Given the description of an element on the screen output the (x, y) to click on. 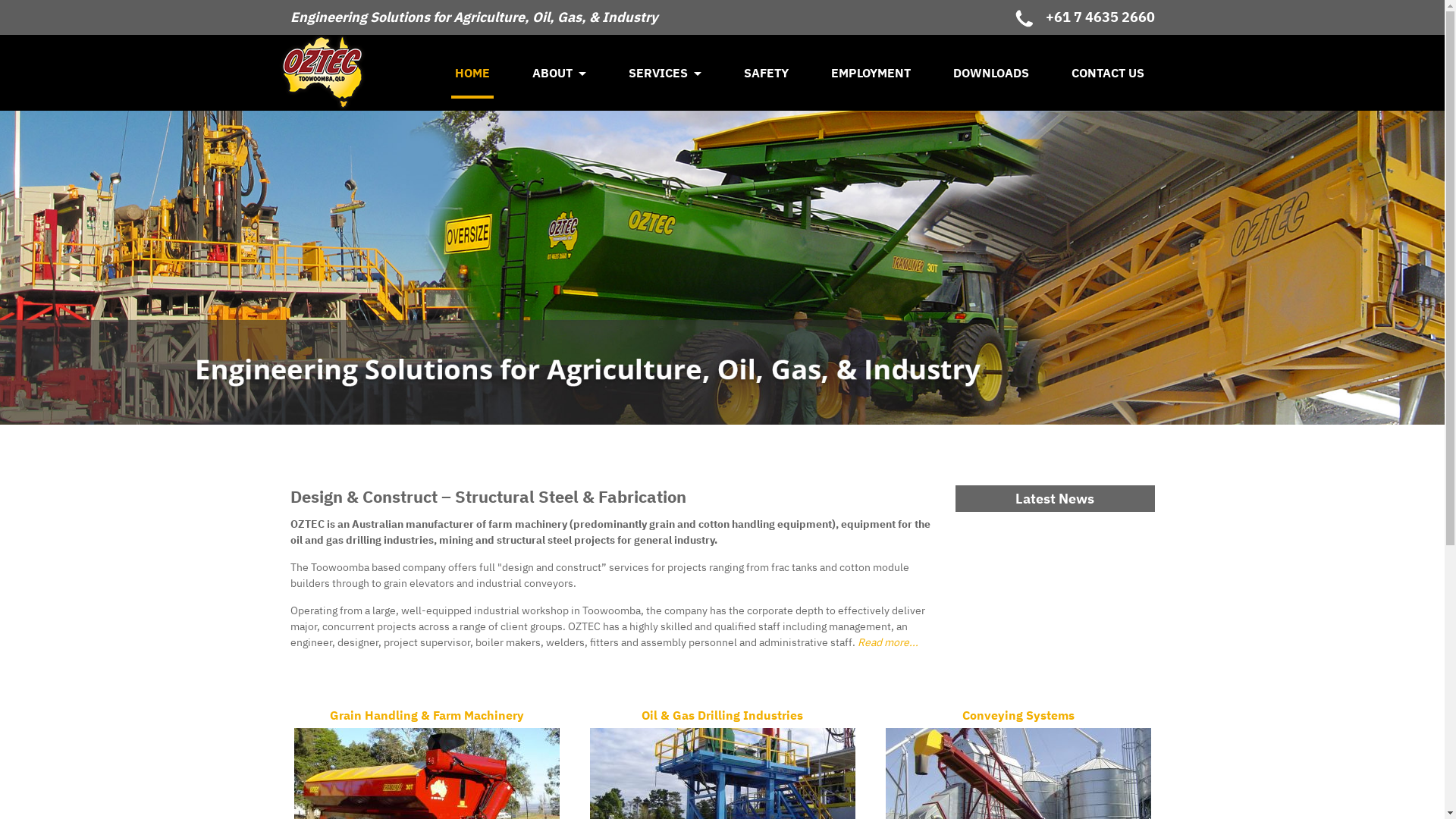
ABOUT Element type: text (558, 72)
Conveying Systems Element type: text (1208, 714)
Grain Handling & Farm Machinery Element type: text (843, 714)
Grain Handling & Farm Machinery Element type: hover (426, 802)
HOME Element type: text (472, 72)
SERVICES Element type: text (664, 72)
Read more... Element type: text (886, 642)
Oztec Element type: hover (352, 72)
Conveying Systems Element type: hover (1018, 802)
Oil & Gas Drilling Industries Element type: text (1029, 714)
DOWNLOADS Element type: text (990, 72)
Oil & Gas Drilling Industries Element type: hover (722, 802)
SAFETY Element type: text (766, 72)
EMPLOYMENT Element type: text (870, 72)
CONTACT US Element type: text (1107, 72)
